Given the description of an element on the screen output the (x, y) to click on. 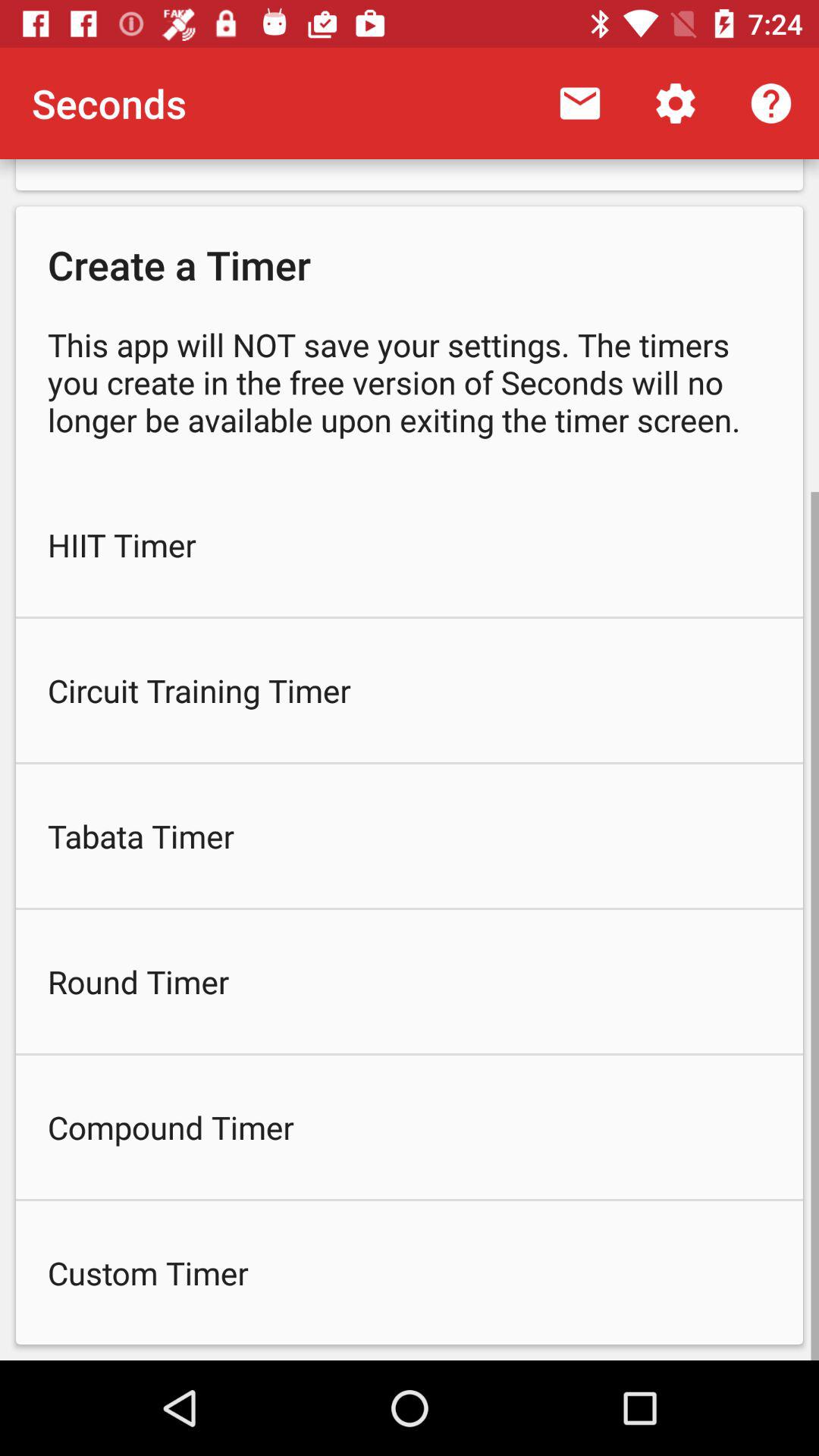
press icon above the create a timer item (579, 103)
